Given the description of an element on the screen output the (x, y) to click on. 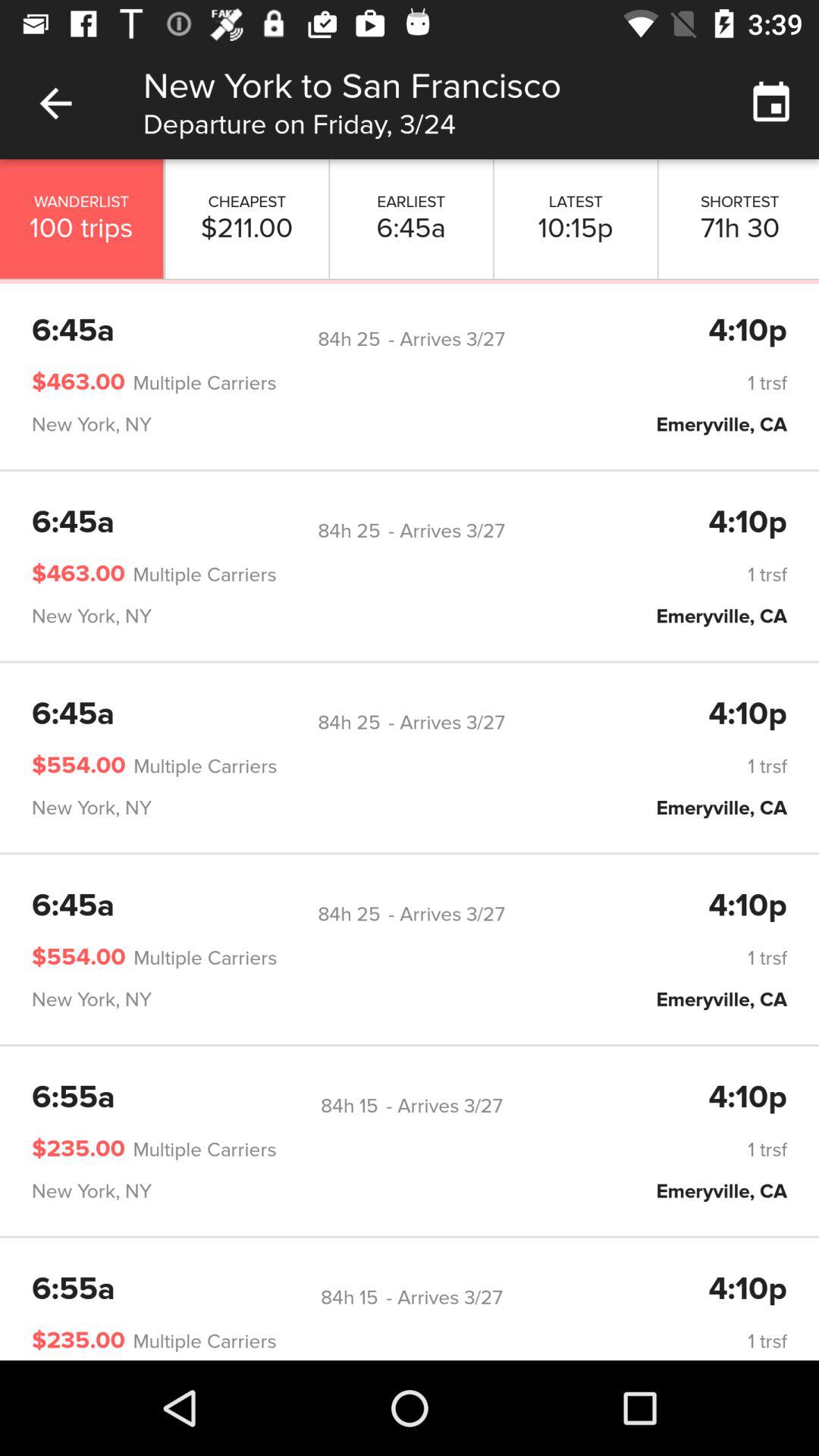
launch item to the left of new york to icon (55, 103)
